Given the description of an element on the screen output the (x, y) to click on. 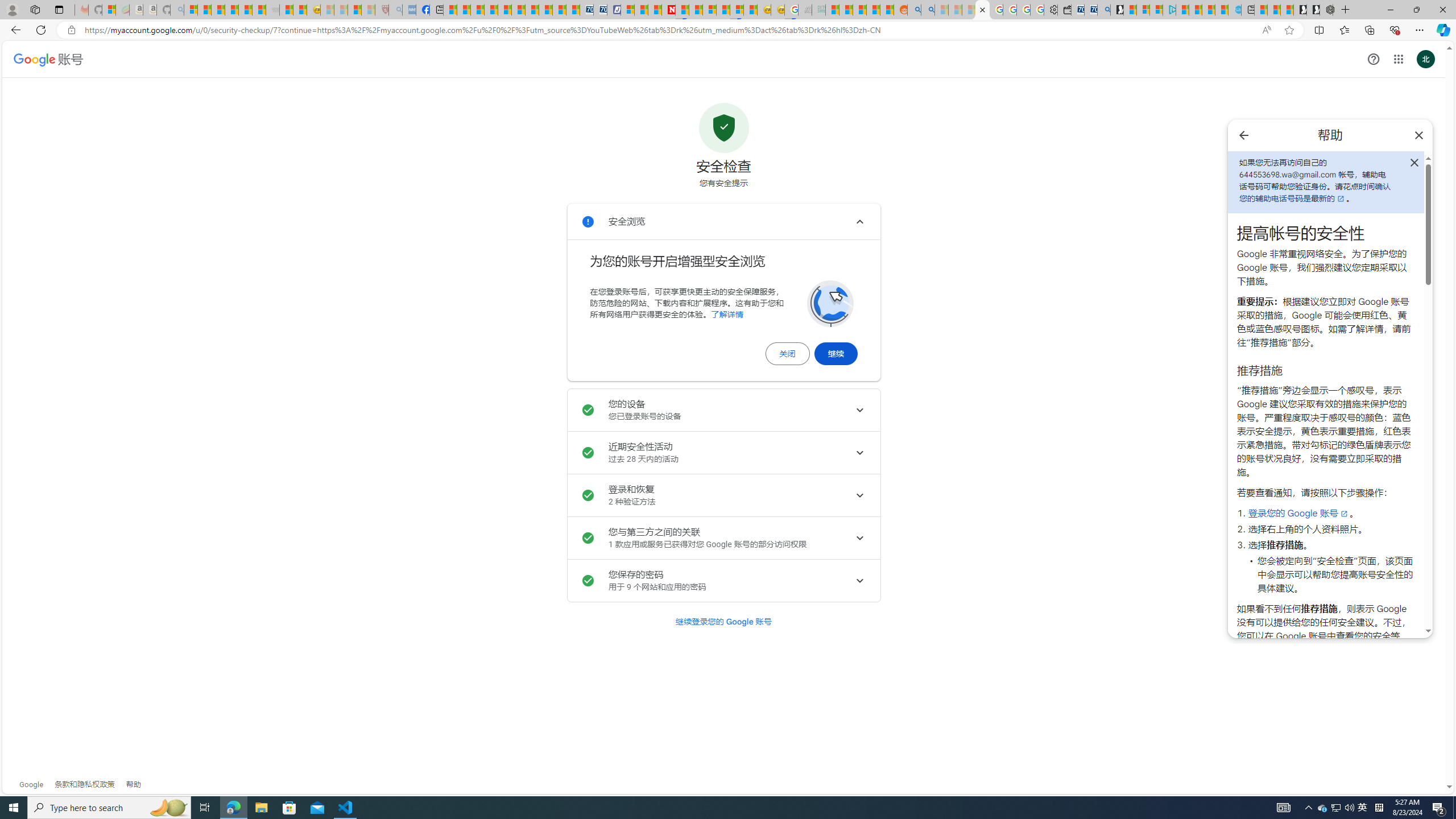
Utah sues federal government - Search (927, 9)
12 Popular Science Lies that Must be Corrected - Sleeping (368, 9)
